Given the description of an element on the screen output the (x, y) to click on. 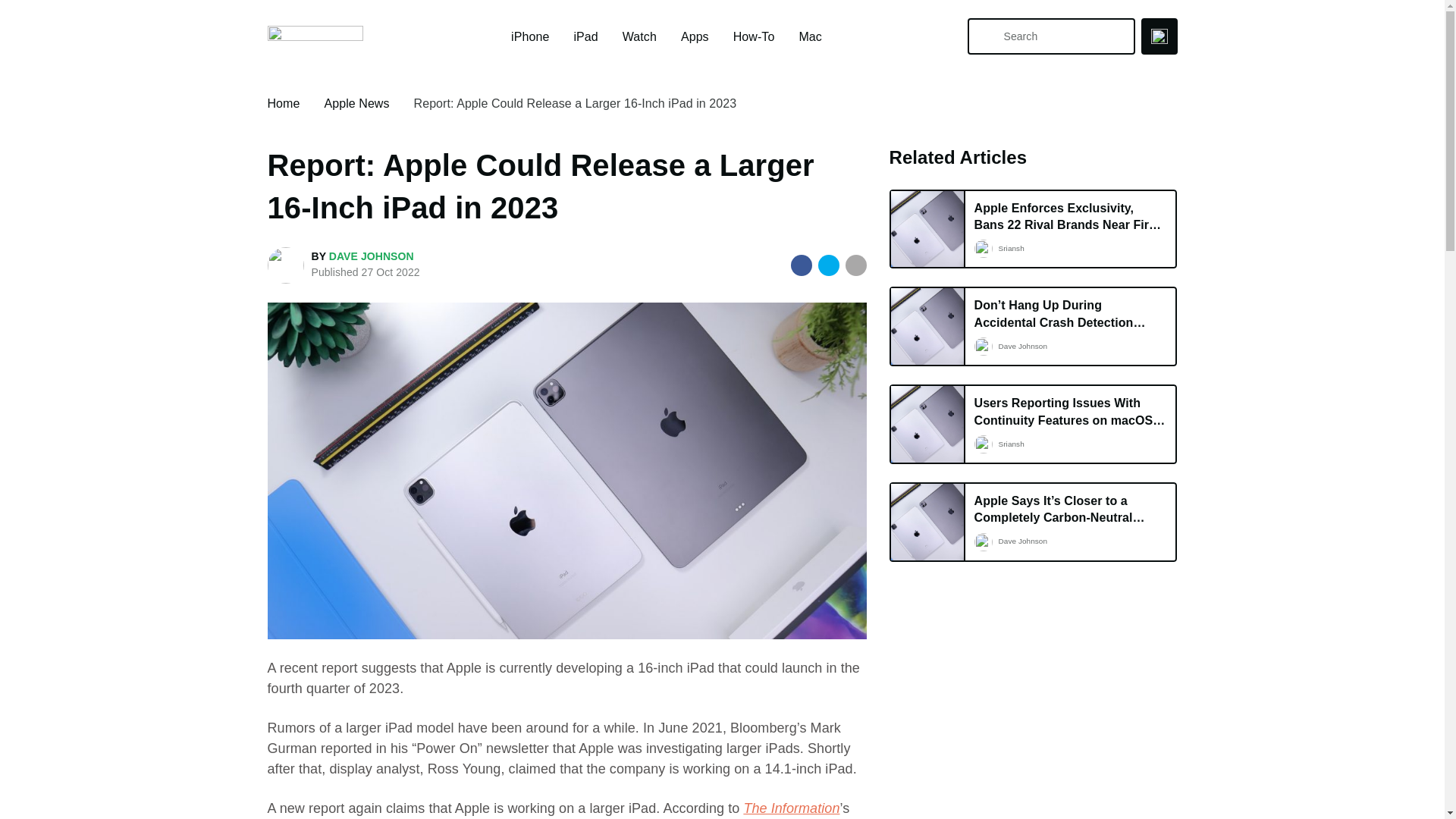
iPhone Apps (695, 37)
How-To (753, 37)
Apple Watch (639, 37)
Apps (695, 37)
Share to Facebook (801, 265)
Mac (809, 37)
Apple News (355, 103)
iPhone (529, 37)
The Information (791, 807)
